Given the description of an element on the screen output the (x, y) to click on. 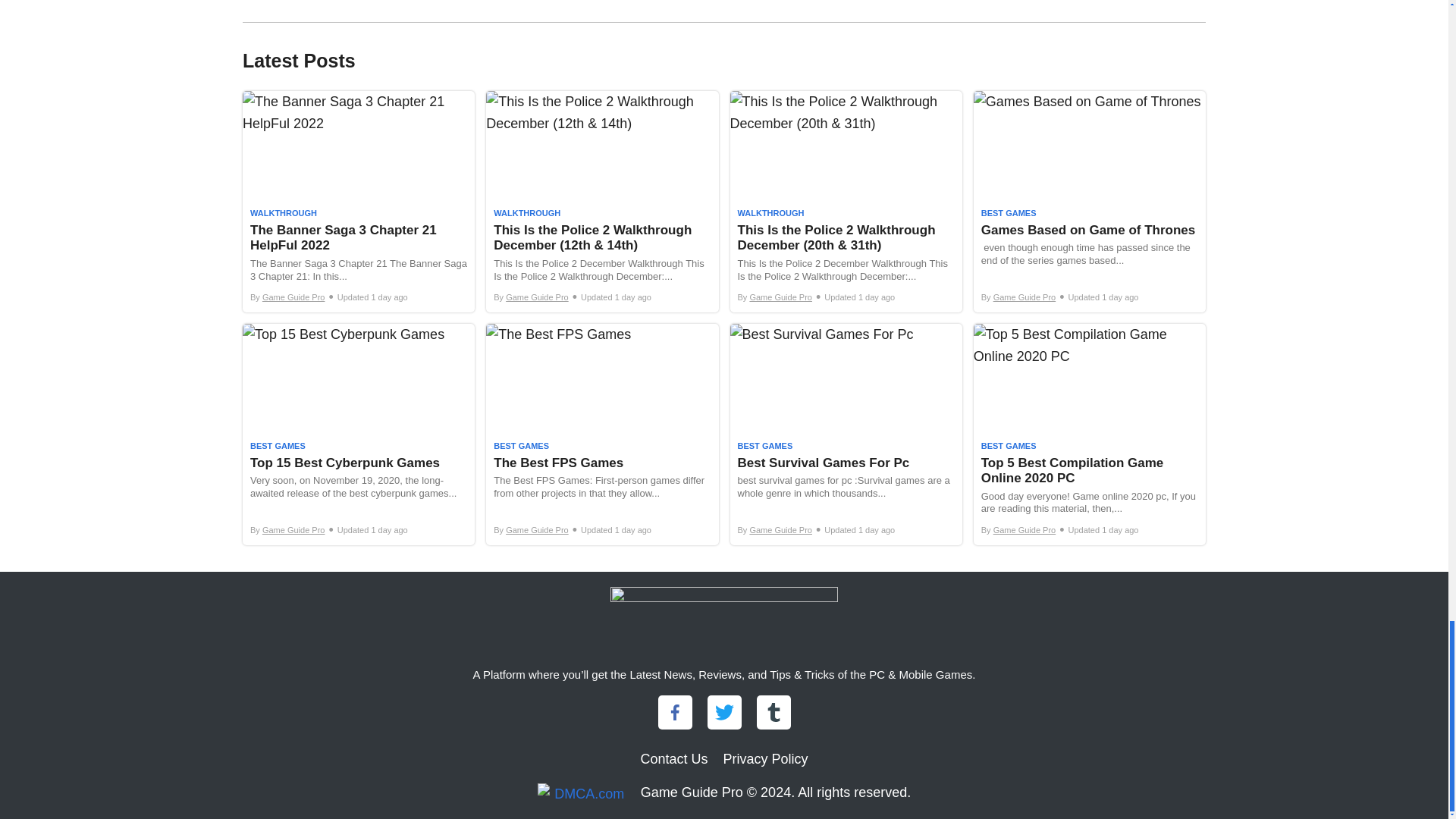
Permanent Link to The Banner Saga 3 Chapter 21 HelpFul 2022 (358, 201)
